Given the description of an element on the screen output the (x, y) to click on. 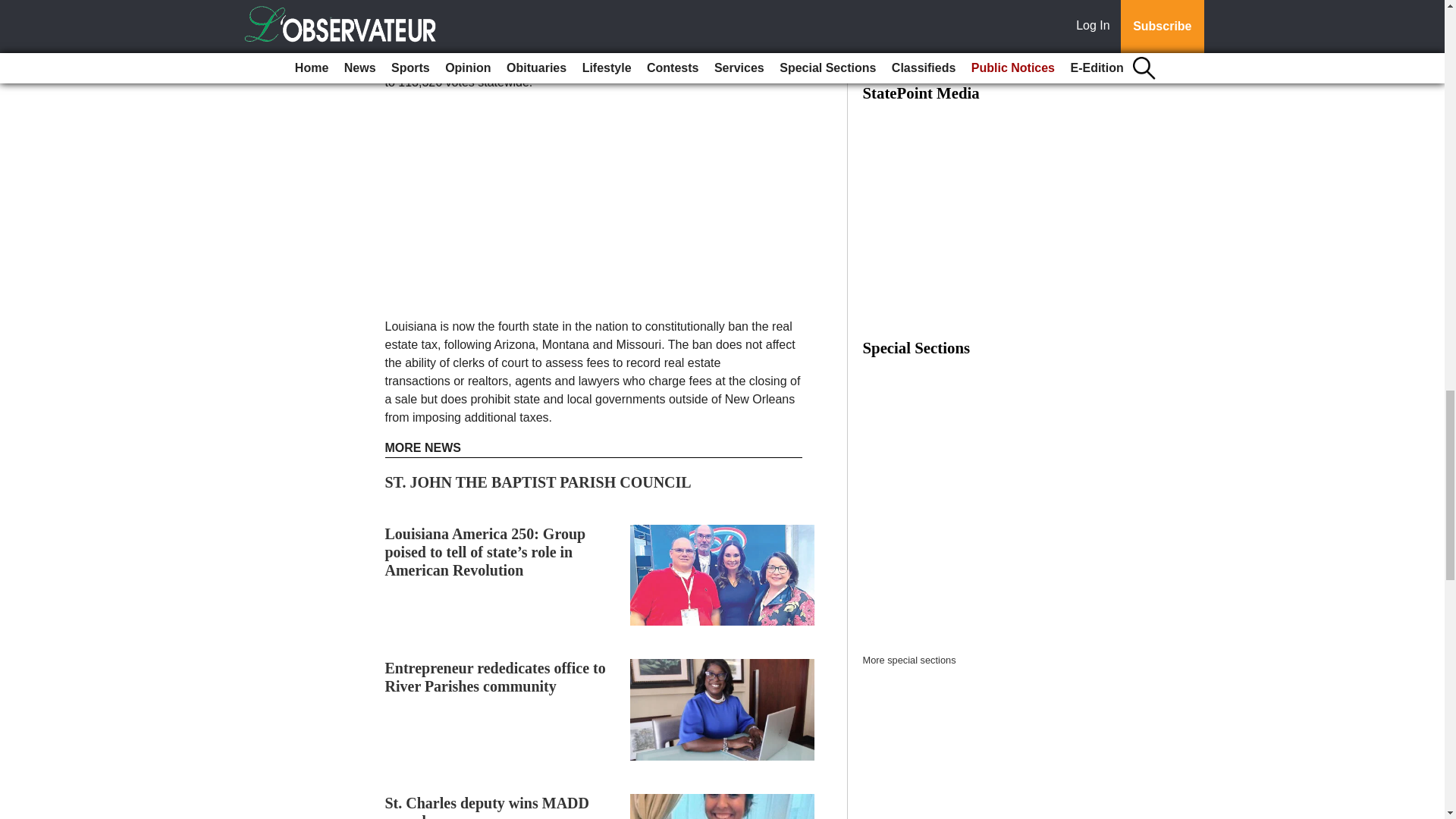
St. Charles deputy wins MADD award (487, 806)
Entrepreneur rededicates office to River Parishes community (495, 677)
ST. JOHN THE BAPTIST PARISH COUNCIL (538, 482)
St. Charles deputy wins MADD award (487, 806)
Entrepreneur rededicates office to River Parishes community (495, 677)
ST. JOHN THE BAPTIST PARISH COUNCIL (538, 482)
